Given the description of an element on the screen output the (x, y) to click on. 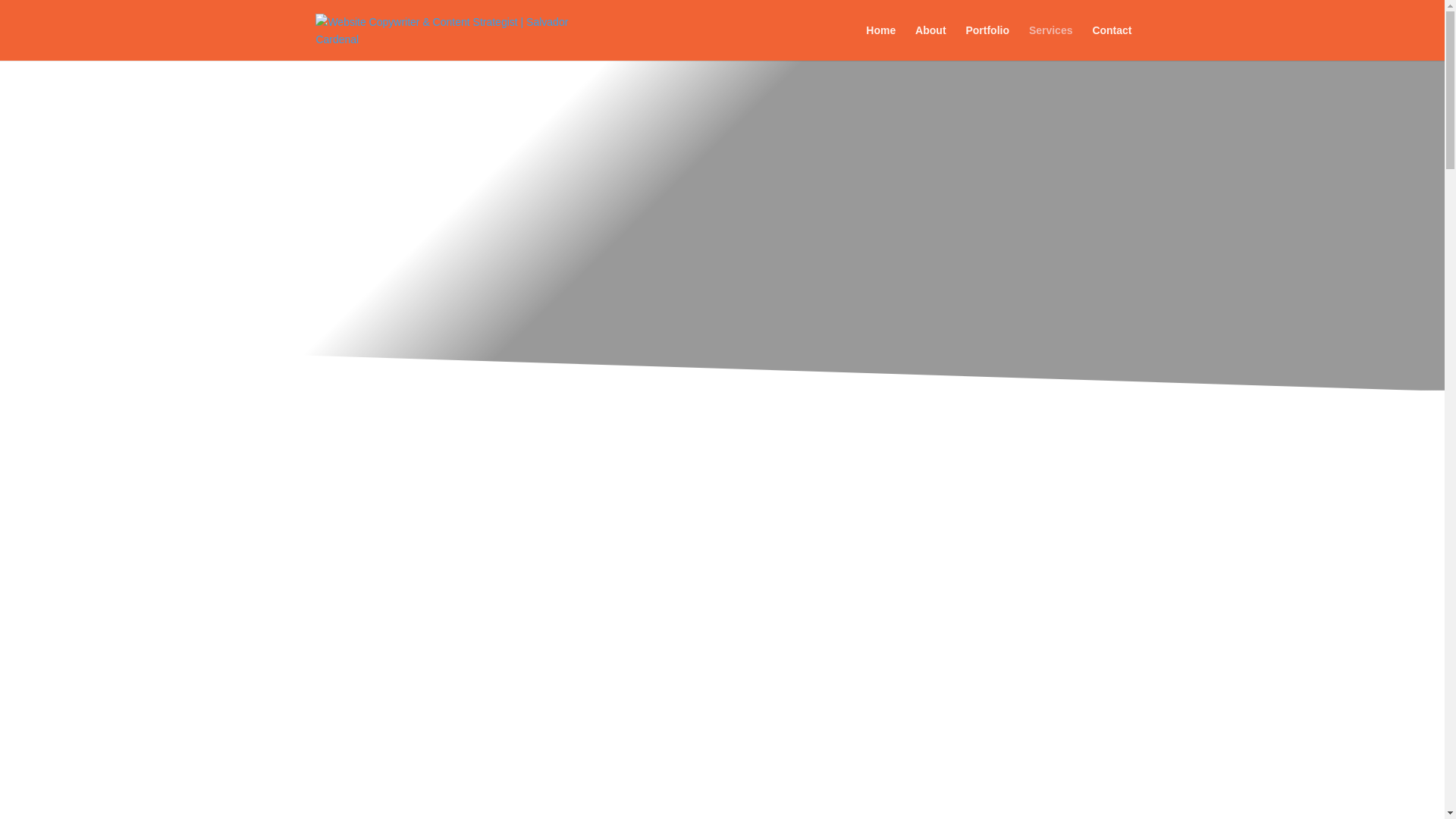
Services (1051, 42)
Portfolio (987, 42)
Contact (1111, 42)
